Given the description of an element on the screen output the (x, y) to click on. 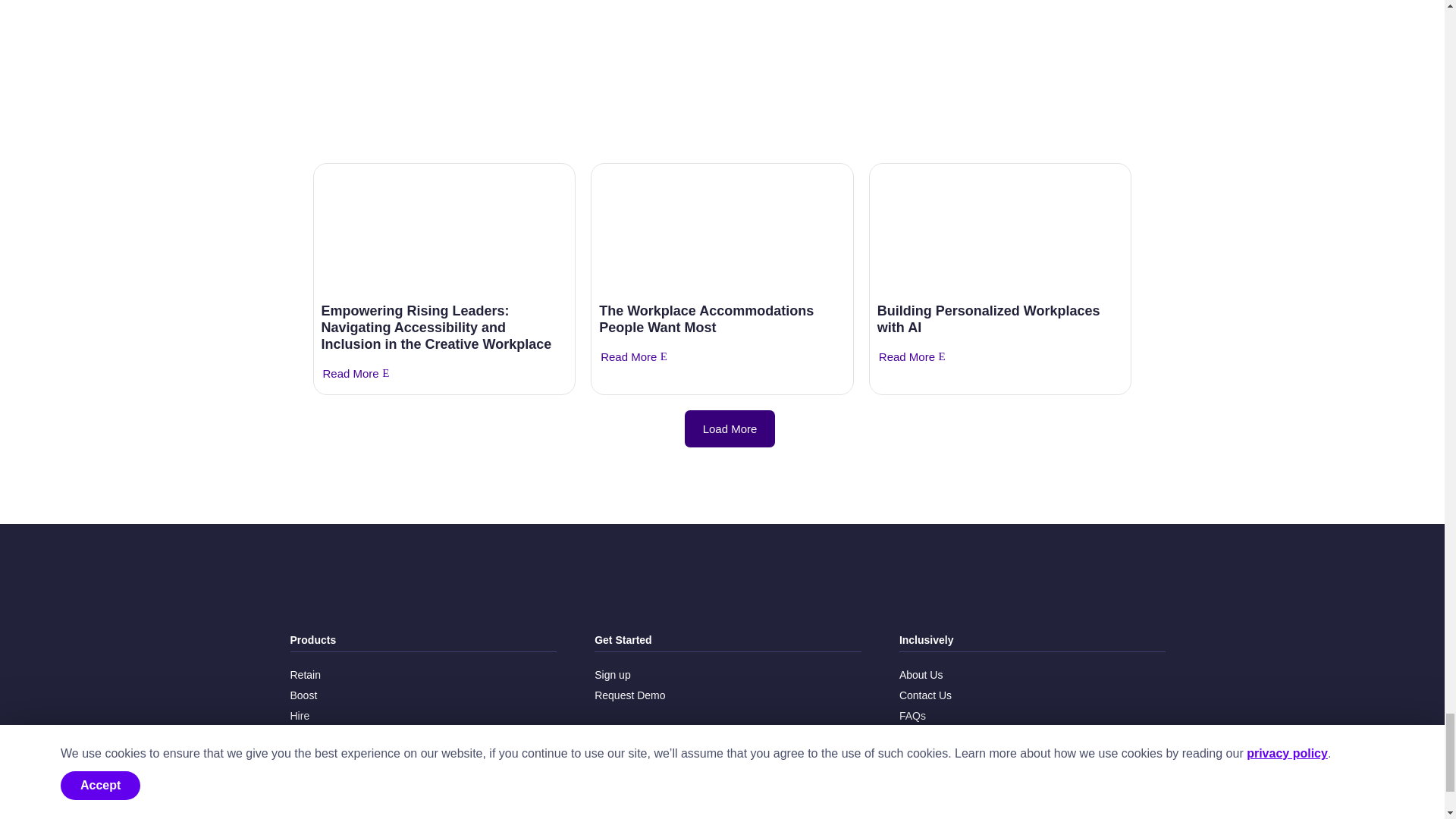
Read More (628, 357)
Read More (350, 373)
